Given the description of an element on the screen output the (x, y) to click on. 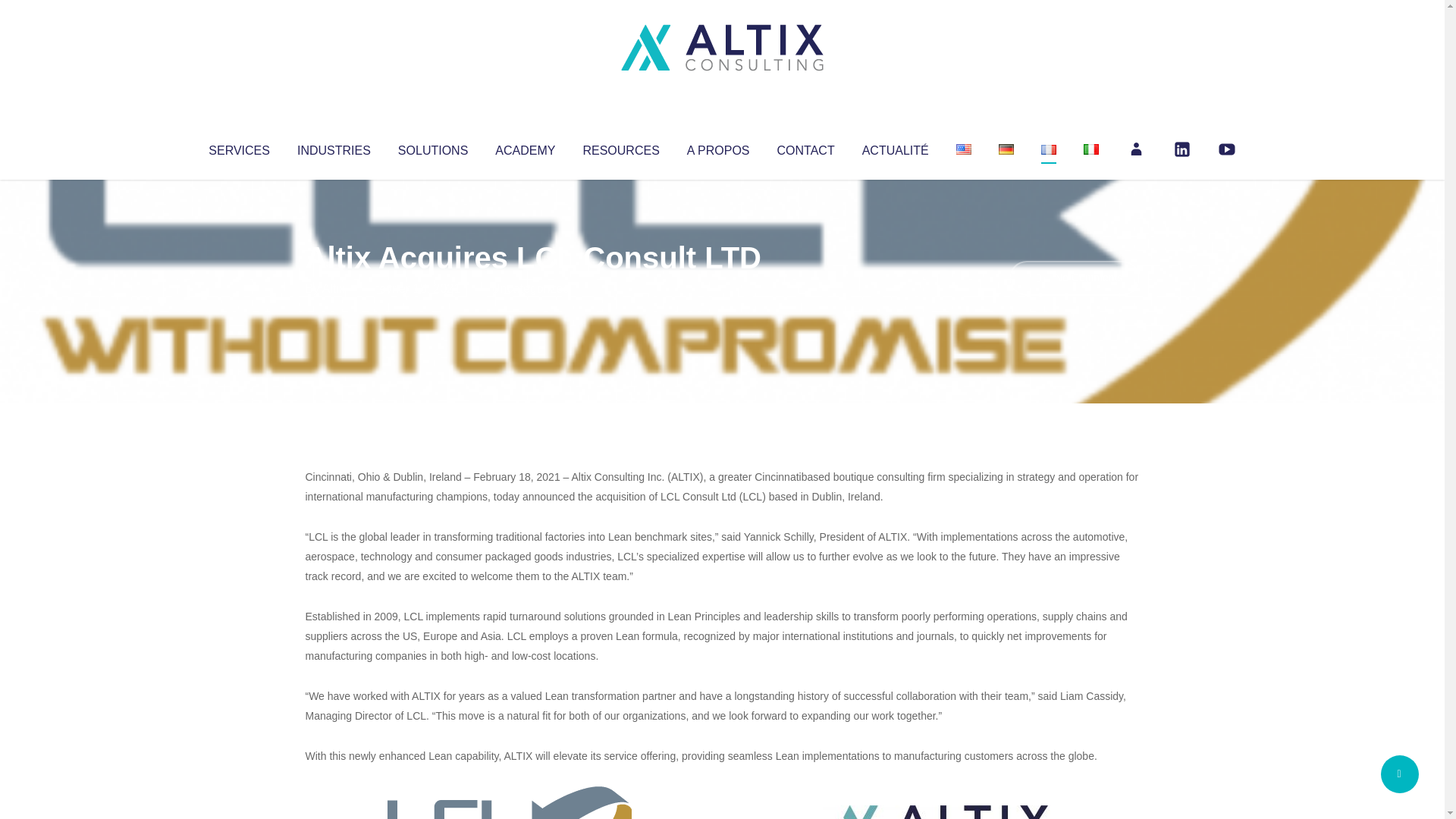
INDUSTRIES (334, 146)
Uncategorized (530, 287)
Articles par Altix (333, 287)
RESOURCES (620, 146)
A PROPOS (718, 146)
SERVICES (238, 146)
ACADEMY (524, 146)
Altix (333, 287)
No Comments (1073, 278)
SOLUTIONS (432, 146)
